Given the description of an element on the screen output the (x, y) to click on. 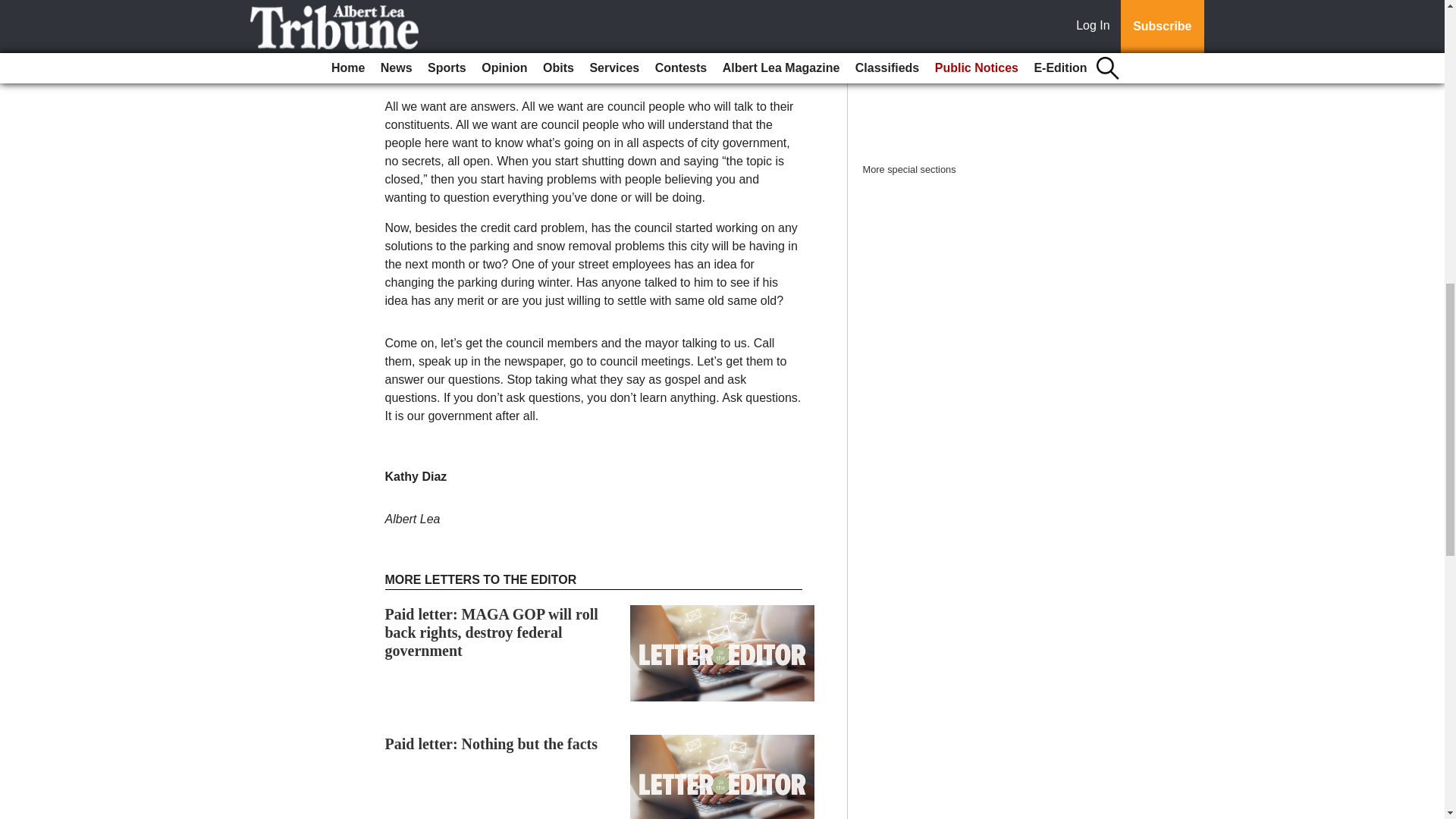
Paid letter: Nothing but the facts (491, 743)
